Given the description of an element on the screen output the (x, y) to click on. 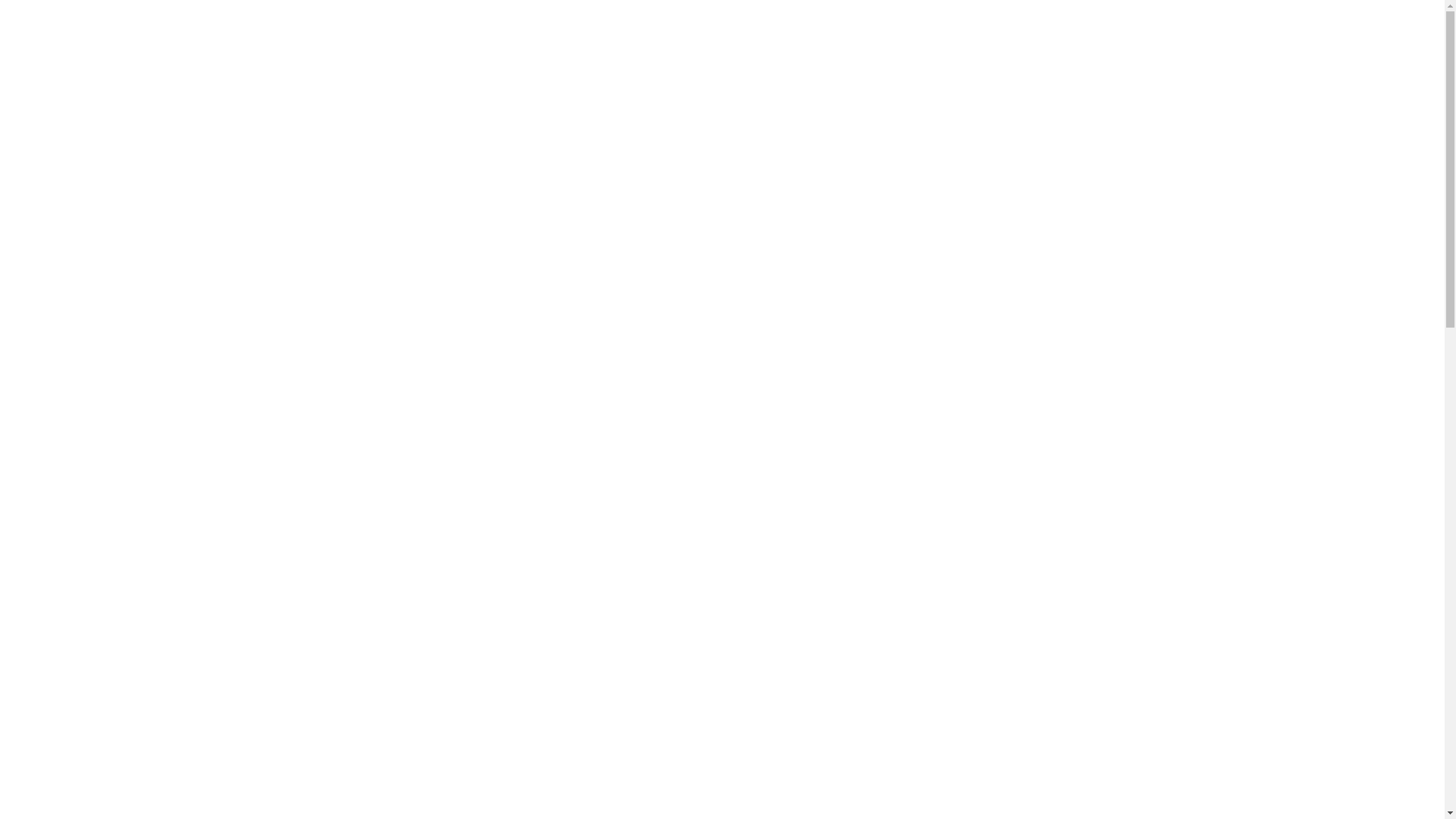
DISCOUNTS Element type: text (797, 83)
TREAT Element type: text (636, 83)
Home Element type: text (95, 308)
THE BLACK HOODIE Element type: text (1219, 677)
BLOG Element type: text (884, 83)
0 Element type: text (1398, 82)
THE OFF-WHITE TRACKSUIT Element type: text (224, 677)
THE BLACK TRACKSUIT Element type: text (555, 677)
THE GREY TRACKSUIT Element type: text (888, 677)
Collections Element type: text (153, 308)
$120.00 $140.00
14% Element type: text (556, 742)
$45.00 $75.00
40% Element type: text (1220, 742)
WEAR Element type: text (708, 83)
$120.00 $140.00
14% Element type: text (224, 742)
$120.00 $140.00
14% Element type: text (888, 742)
CARE Element type: text (566, 83)
PROTECT Element type: text (488, 83)
